Given the description of an element on the screen output the (x, y) to click on. 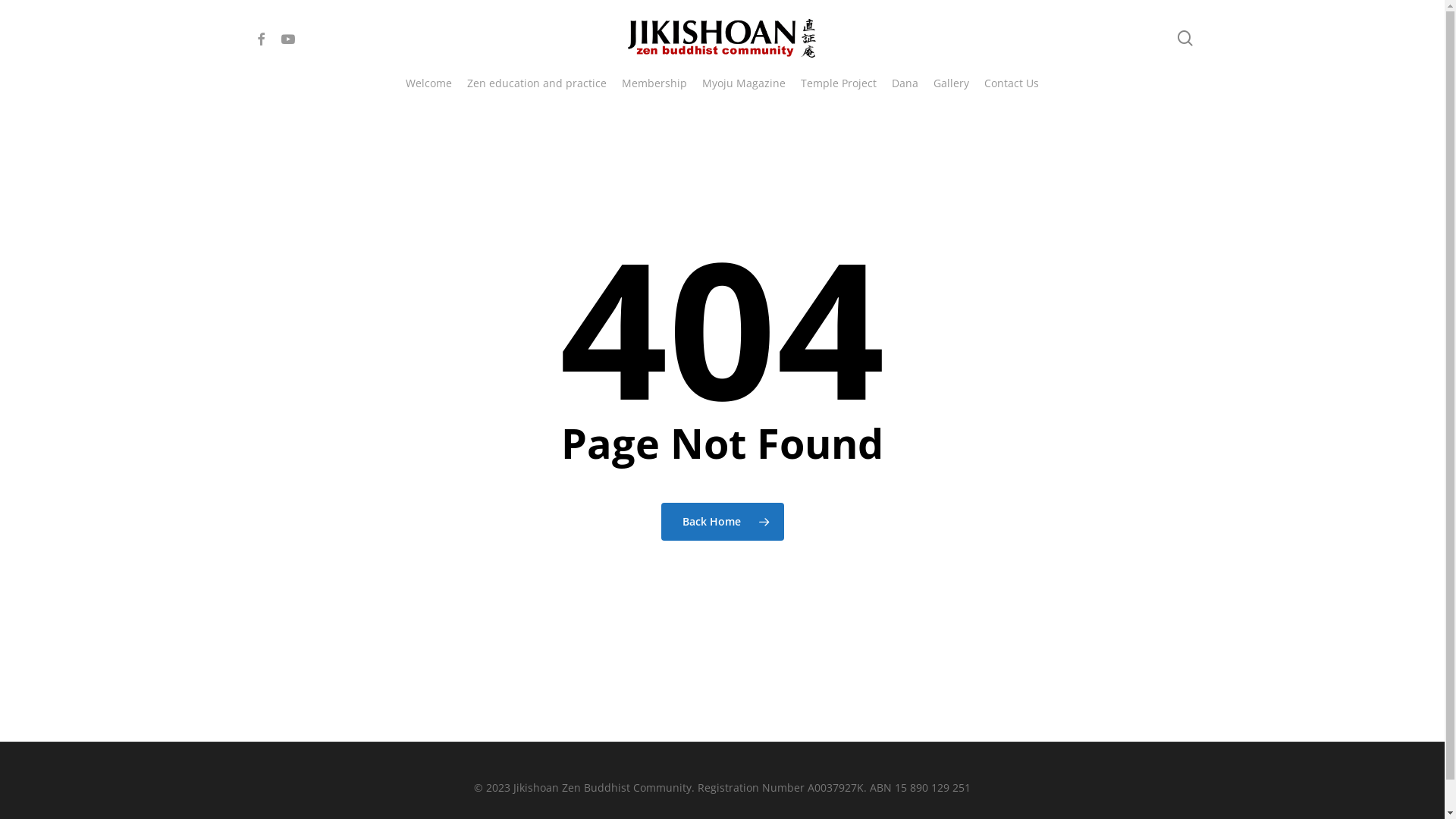
youtube Element type: text (287, 37)
Dana Element type: text (904, 83)
Zen education and practice Element type: text (536, 83)
Myoju Magazine Element type: text (743, 83)
Welcome Element type: text (428, 83)
Membership Element type: text (654, 83)
facebook Element type: text (260, 37)
Back Home Element type: text (722, 520)
Gallery Element type: text (951, 83)
Temple Project Element type: text (838, 83)
search Element type: text (1185, 38)
Contact Us Element type: text (1011, 83)
